Given the description of an element on the screen output the (x, y) to click on. 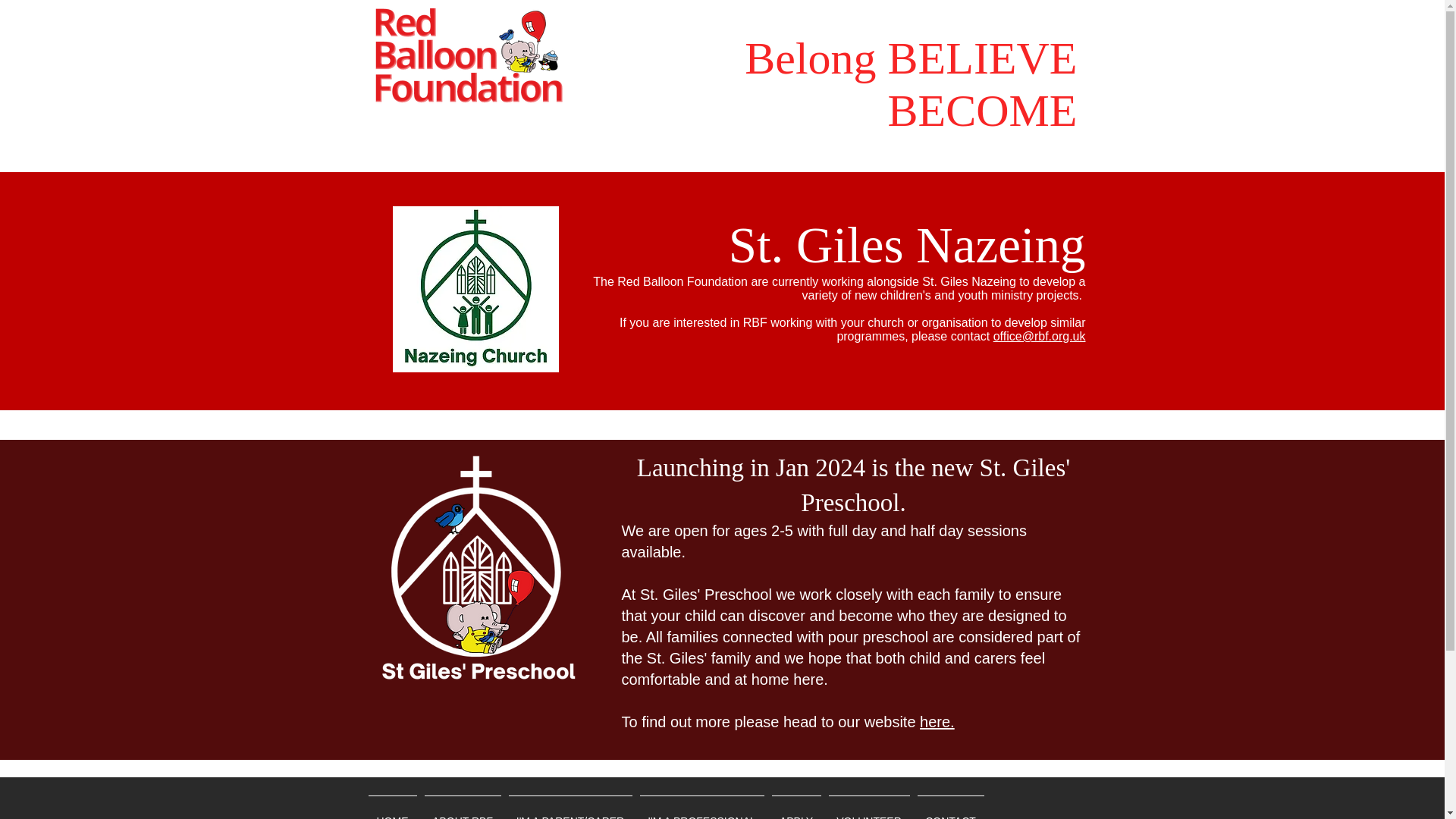
APPLY (795, 807)
I'M A PROFESSIONAL (700, 807)
here. (937, 721)
VOLUNTEER (869, 807)
ABOUT RBF (461, 807)
CONTACT (949, 807)
HOME (392, 807)
